Given the description of an element on the screen output the (x, y) to click on. 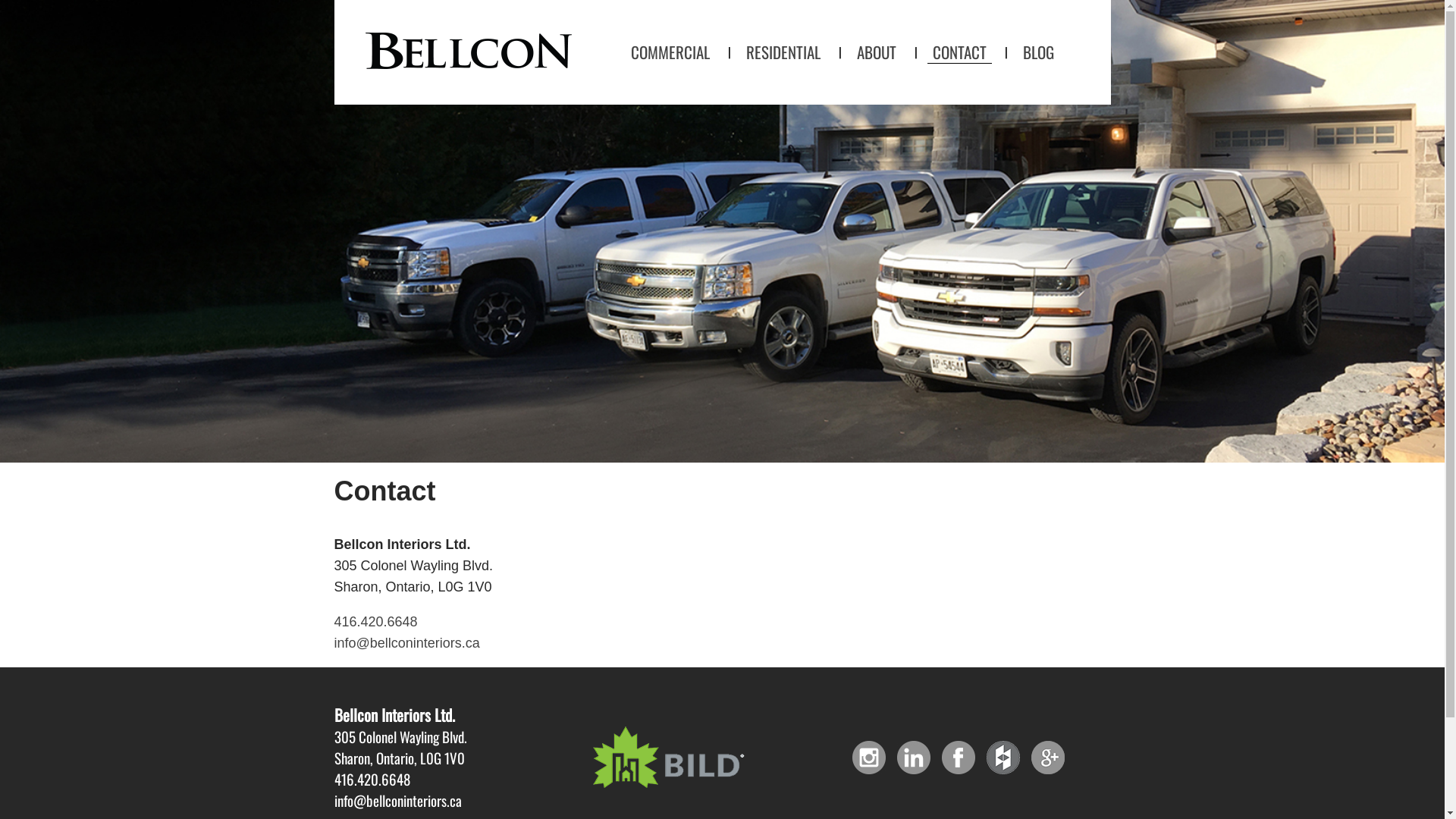
COMMERCIAL Element type: text (669, 51)
info@bellconinteriors.ca Element type: text (406, 642)
416.420.6648 Element type: text (375, 621)
CONTACT Element type: text (958, 51)
416.420.6648 Element type: text (371, 778)
info@bellconinteriors.ca Element type: text (397, 799)
BLOG Element type: text (1038, 51)
ABOUT Element type: text (875, 51)
RESIDENTIAL Element type: text (782, 51)
